Given the description of an element on the screen output the (x, y) to click on. 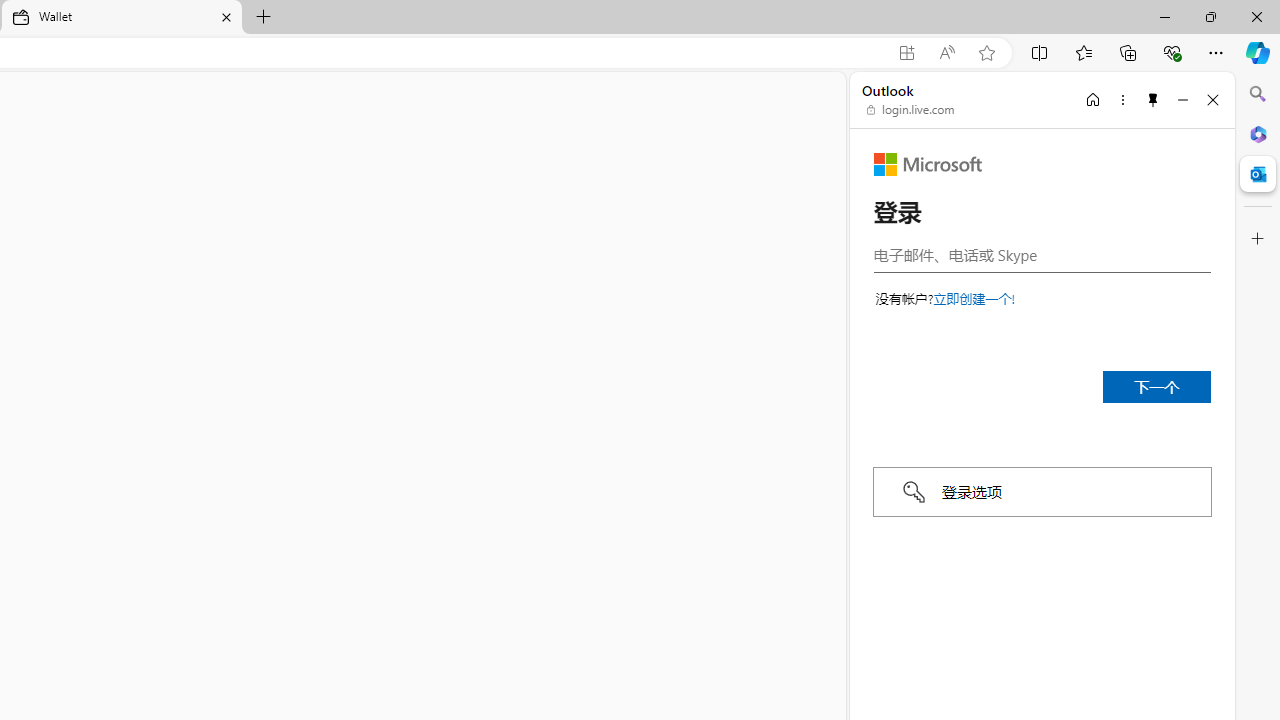
App available. Install Microsoft Wallet (906, 53)
login.live.com (911, 110)
